Given the description of an element on the screen output the (x, y) to click on. 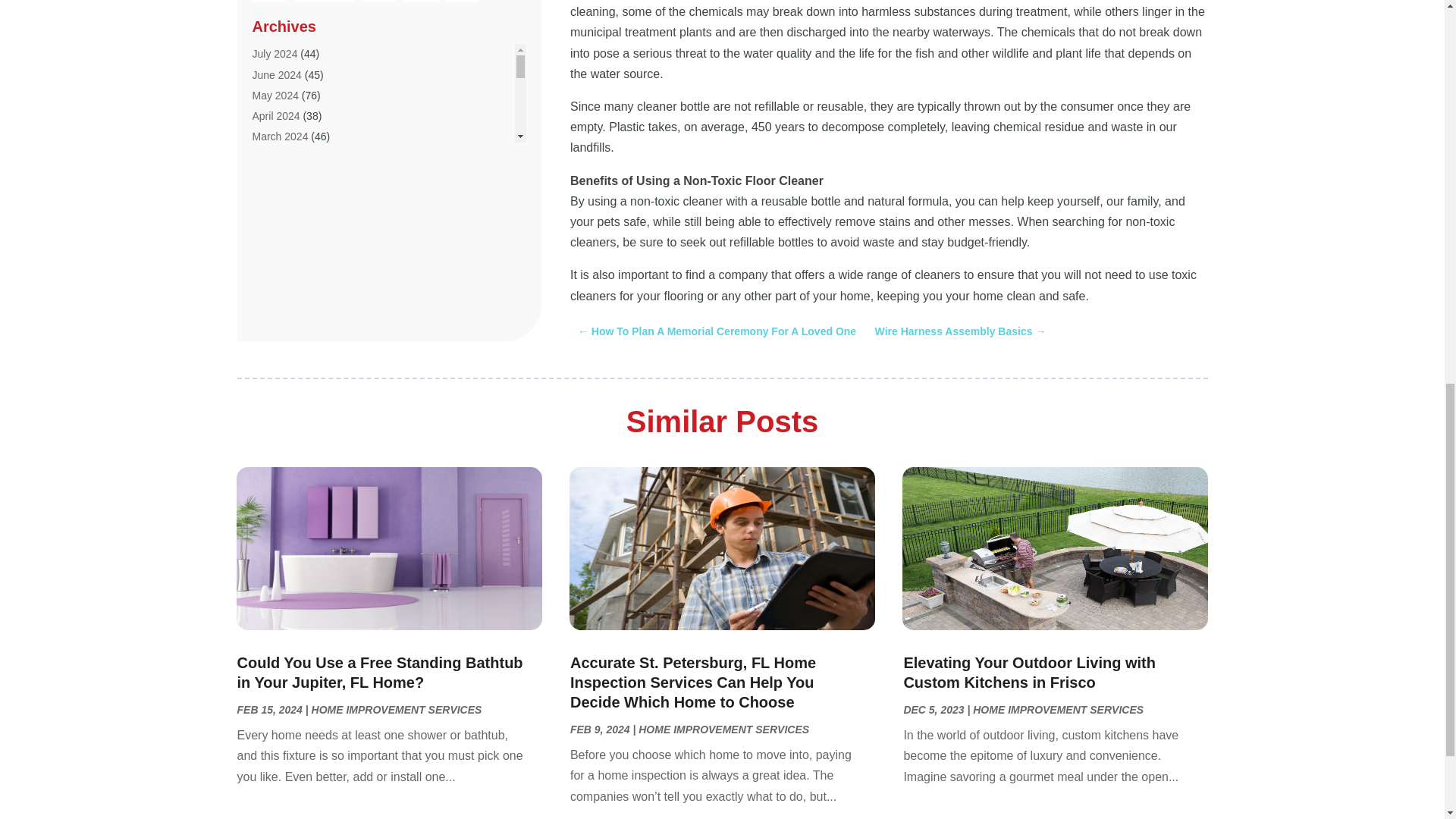
Air Quality Control System (313, 201)
Airport Shuttle Service (303, 243)
Air Duct Cleaning (292, 181)
Air Distribution (285, 160)
Aluminum Supplier (295, 325)
Aesthetics (276, 78)
Aerospace (276, 57)
Aluminium (276, 284)
Animal Hospital (287, 367)
Aircraft Cargo Loaders (304, 222)
Air Conditioning Repair Service (324, 140)
Agricultural Service (297, 98)
Adoption (272, 0)
Aluminum (274, 304)
Animal Removal (290, 387)
